Given the description of an element on the screen output the (x, y) to click on. 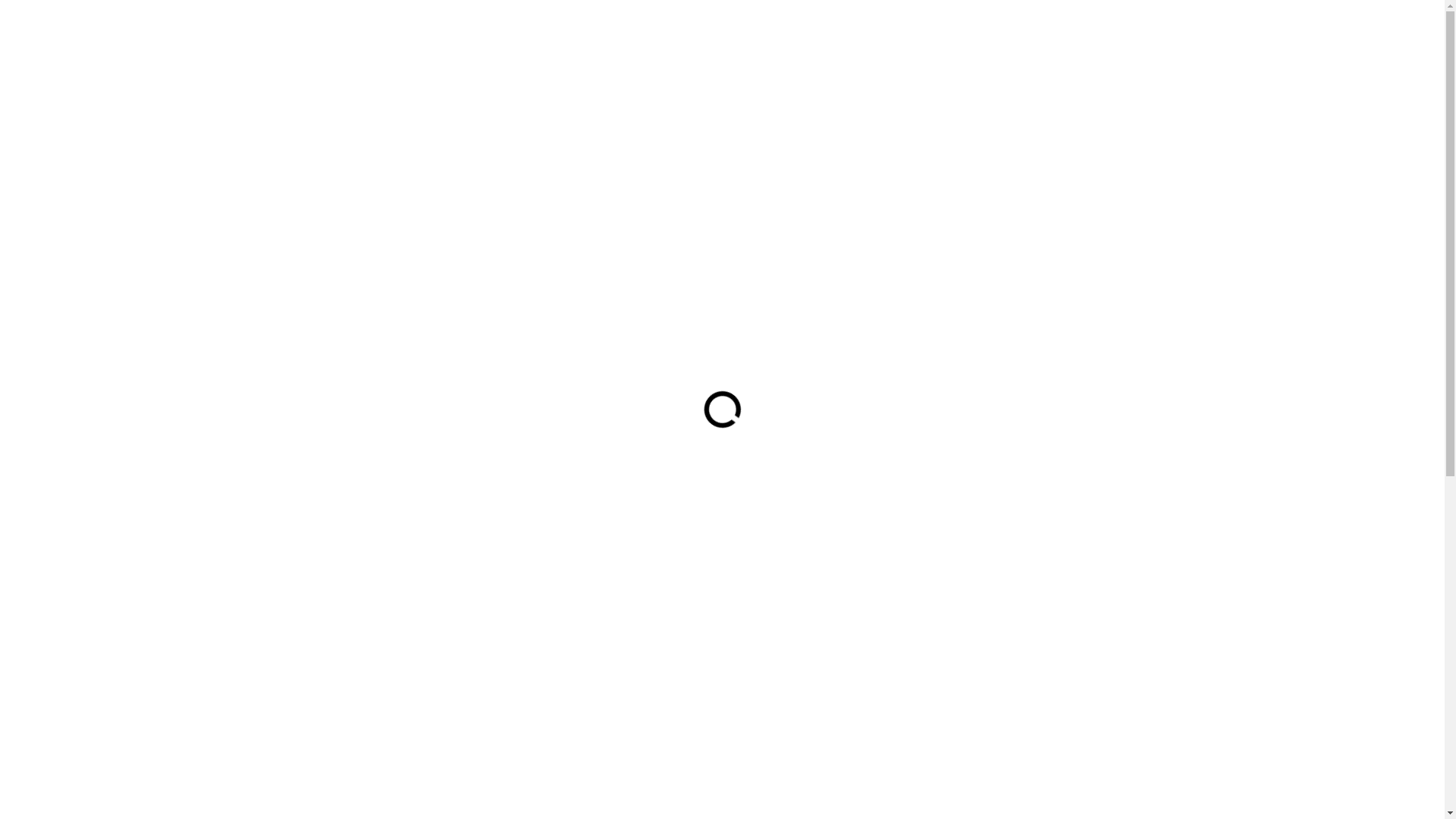
Brisbane, Sunshine Coast, & Gold Coast Element type: hover (389, 36)
ENROLMENT Element type: text (874, 55)
Confined Space Ticket Element type: text (1026, 552)
COURSES Element type: text (1090, 54)
First Aid & CPR Element type: text (1007, 691)
HOME Element type: text (541, 55)
07 5476 3211 , Element type: text (1001, 15)
ACDC Chemical Spraying Licence Element type: text (1053, 579)
QUALS Element type: text (719, 55)
Google Maps Link Element type: text (339, 447)
Pole Saw Course Element type: text (1012, 662)
SHORT COURSES Element type: text (630, 55)
Chainsaw Course (Level 1) Element type: text (1036, 607)
All Other Element type: text (993, 718)
Certificate II in Horticulture Element type: text (1039, 789)
Fell Small Trees (Level 2) Element type: text (1032, 635)
FUNDING Element type: text (788, 55)
07 3668 0737 Element type: text (1087, 17)
Working at Heights Ticket Element type: text (1034, 524)
Locations (RTO no. 45726) Element type: text (849, 15)
CONTACT Element type: text (960, 55)
